Given the description of an element on the screen output the (x, y) to click on. 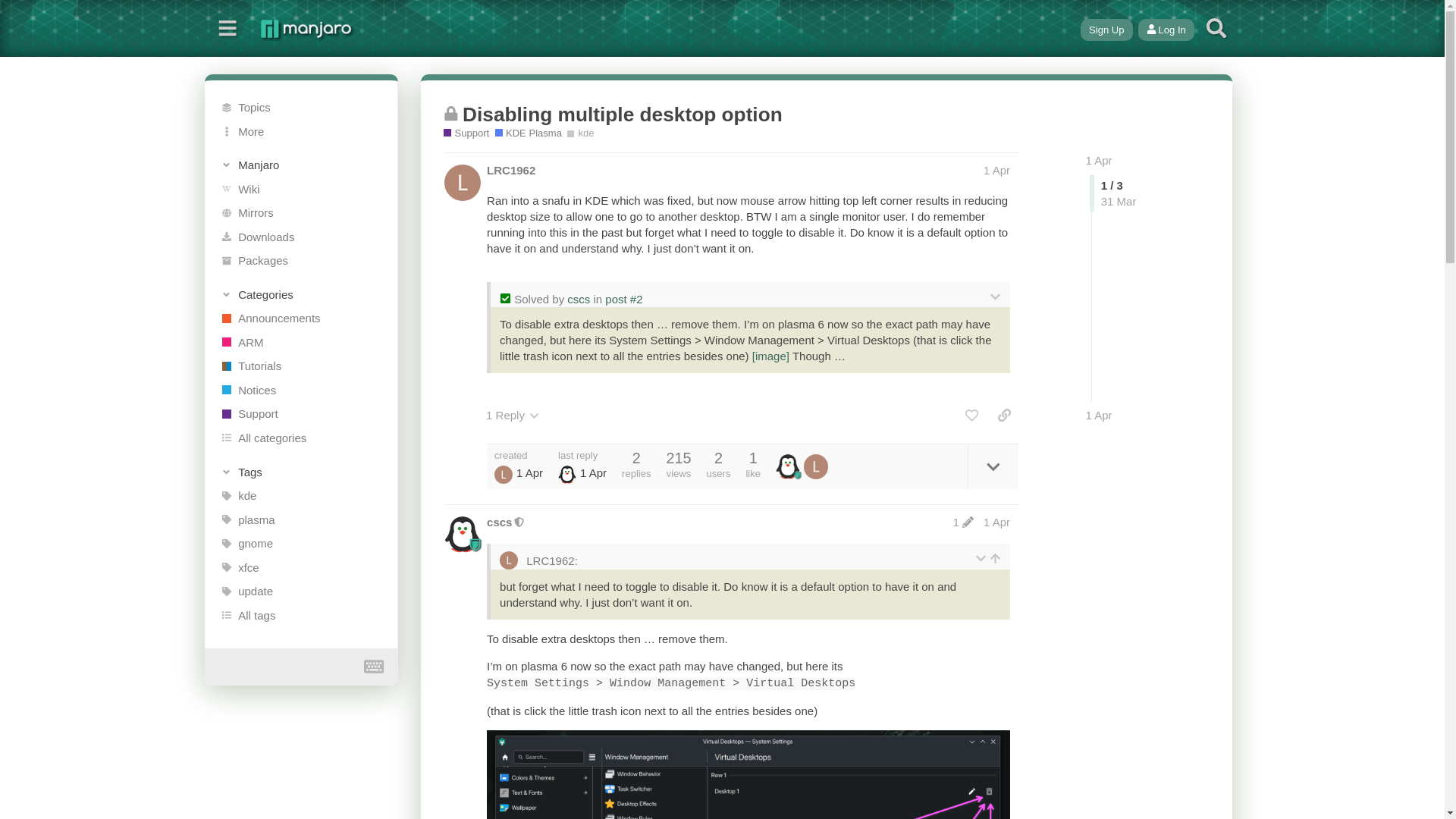
Topics (301, 107)
This category is for announcements. (301, 318)
Important information is contained in this section. (301, 390)
Wiki (301, 188)
xfce (301, 567)
Manjaro (301, 165)
1 Apr (1099, 415)
1 Apr (997, 169)
update (301, 591)
Tags (301, 471)
Manjaro ARM subforum: News, Development, Support (301, 342)
Packages (301, 260)
This topic is closed; it no longer accepts new replies (451, 113)
Keyboard Shortcuts (373, 667)
